Given the description of an element on the screen output the (x, y) to click on. 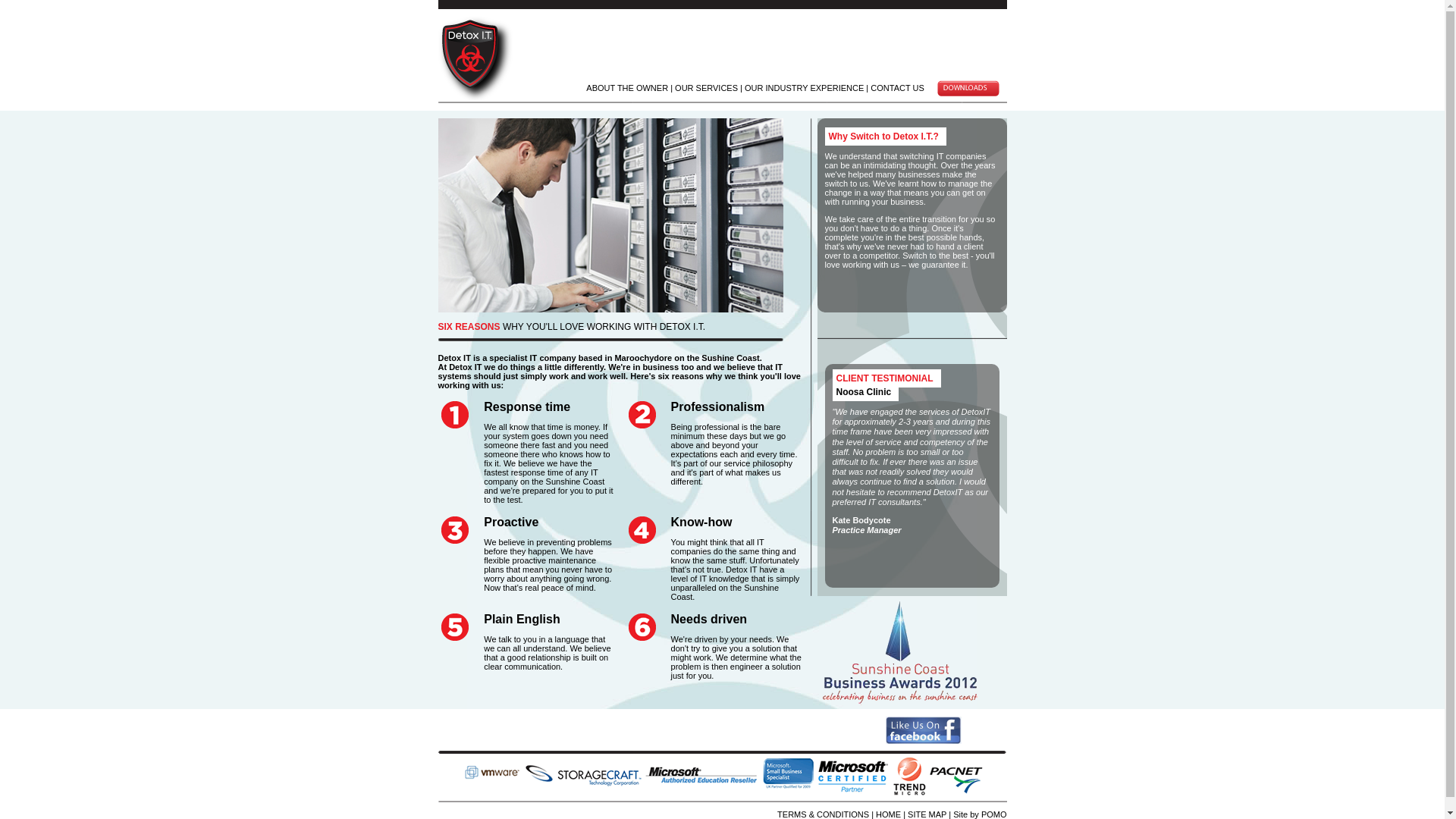
CONTACT US Element type: text (897, 87)
OUR INDUSTRY EXPERIENCE Element type: text (803, 87)
ABOUT THE OWNER Element type: text (627, 87)
OUR SERVICES Element type: text (705, 87)
